Given the description of an element on the screen output the (x, y) to click on. 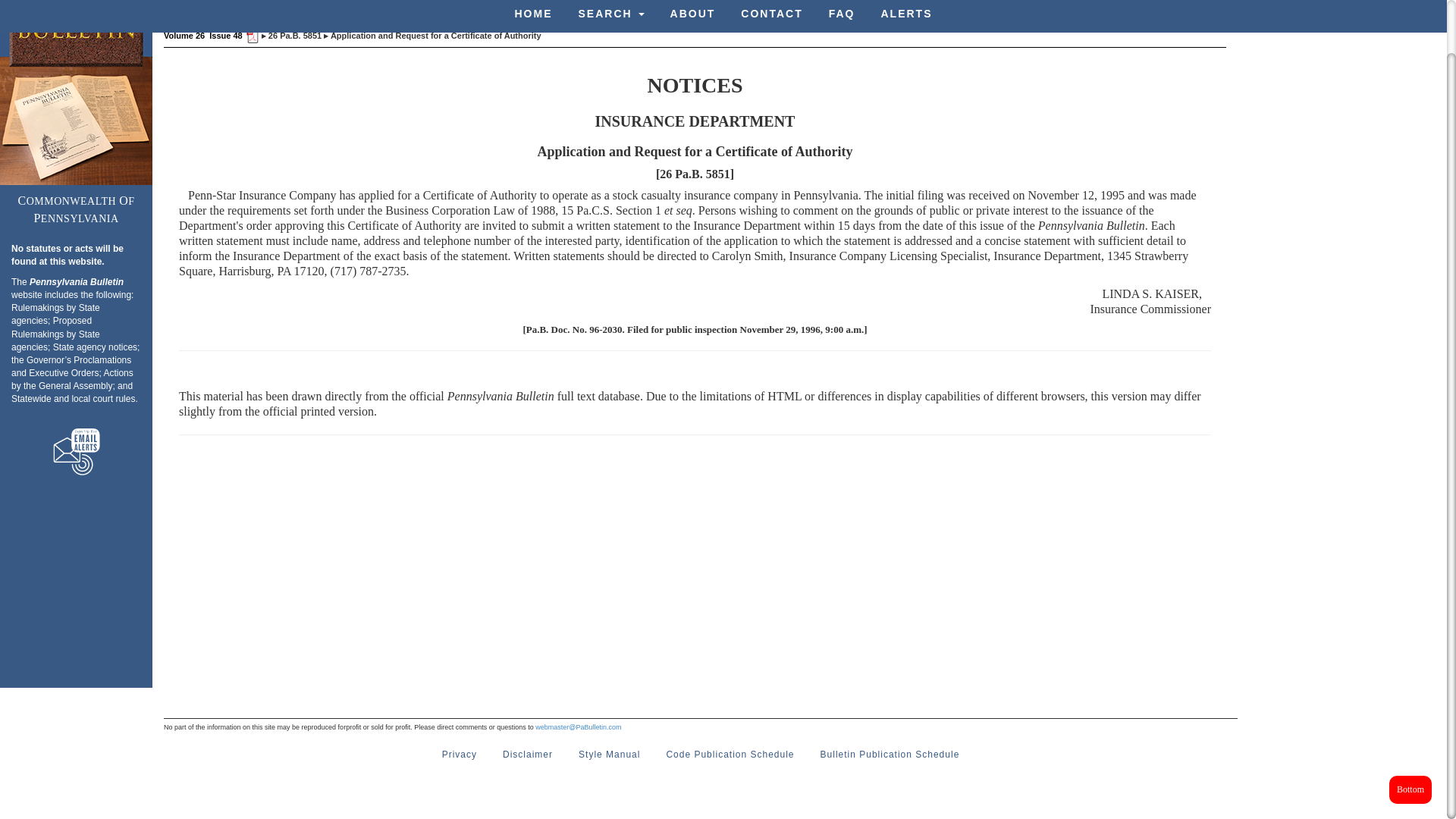
Return to Search (774, 8)
Print (833, 8)
Bottom (1410, 732)
Previous Doc (586, 8)
Next Doc (646, 8)
Previous Doc (586, 8)
Resize Screen (884, 8)
Bulletin Publication Schedule (890, 754)
Bulletin Table of Contents (514, 8)
Table of Contents (514, 8)
Email Alerts (76, 451)
Return to Search (774, 8)
Next Bulletin (705, 8)
Style Manual (608, 754)
Code Publication Schedule (729, 754)
